Given the description of an element on the screen output the (x, y) to click on. 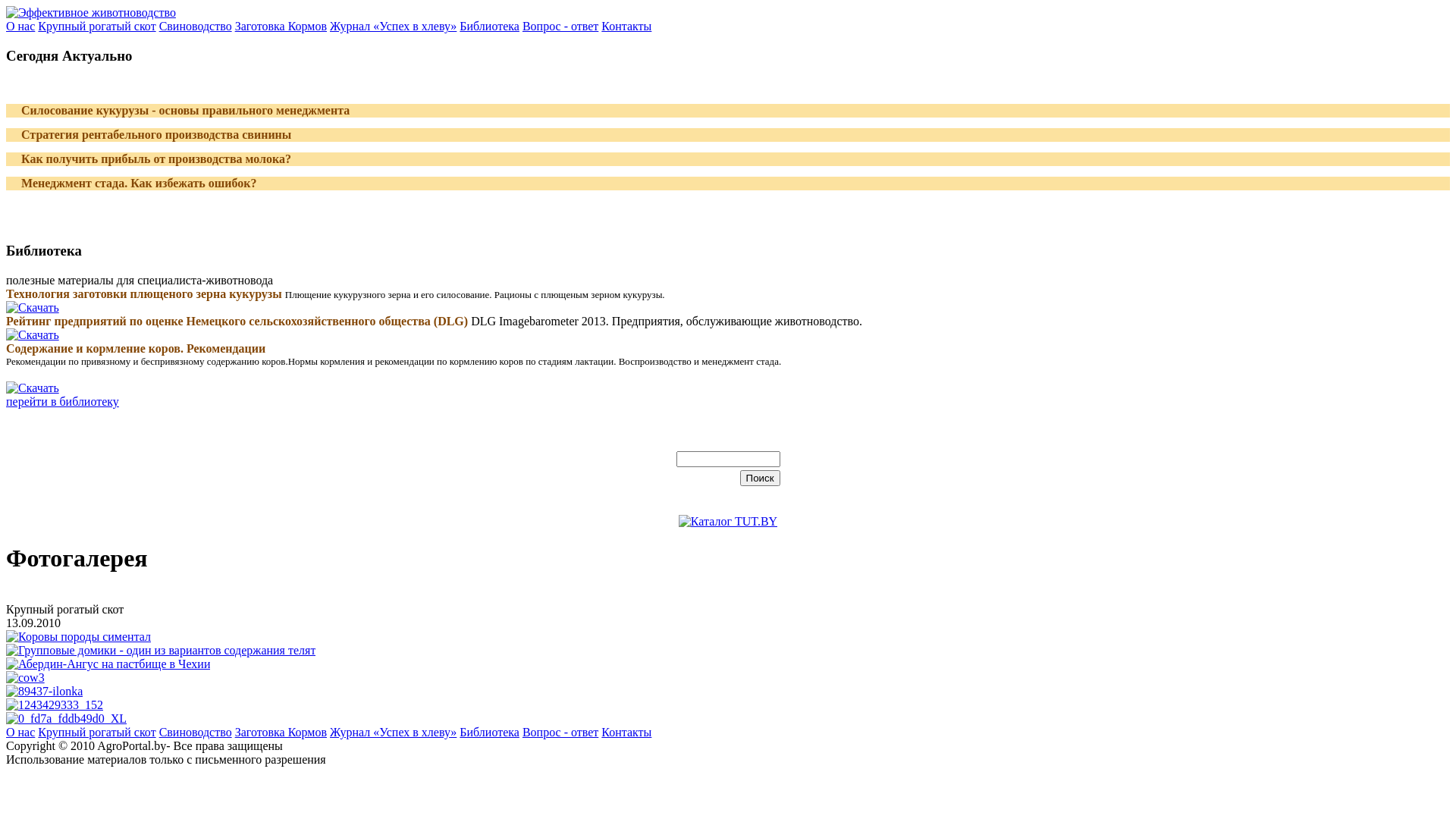
cow3 Element type: hover (727, 677)
0_fd7a_fddb49d0_XL Element type: hover (727, 718)
